Given the description of an element on the screen output the (x, y) to click on. 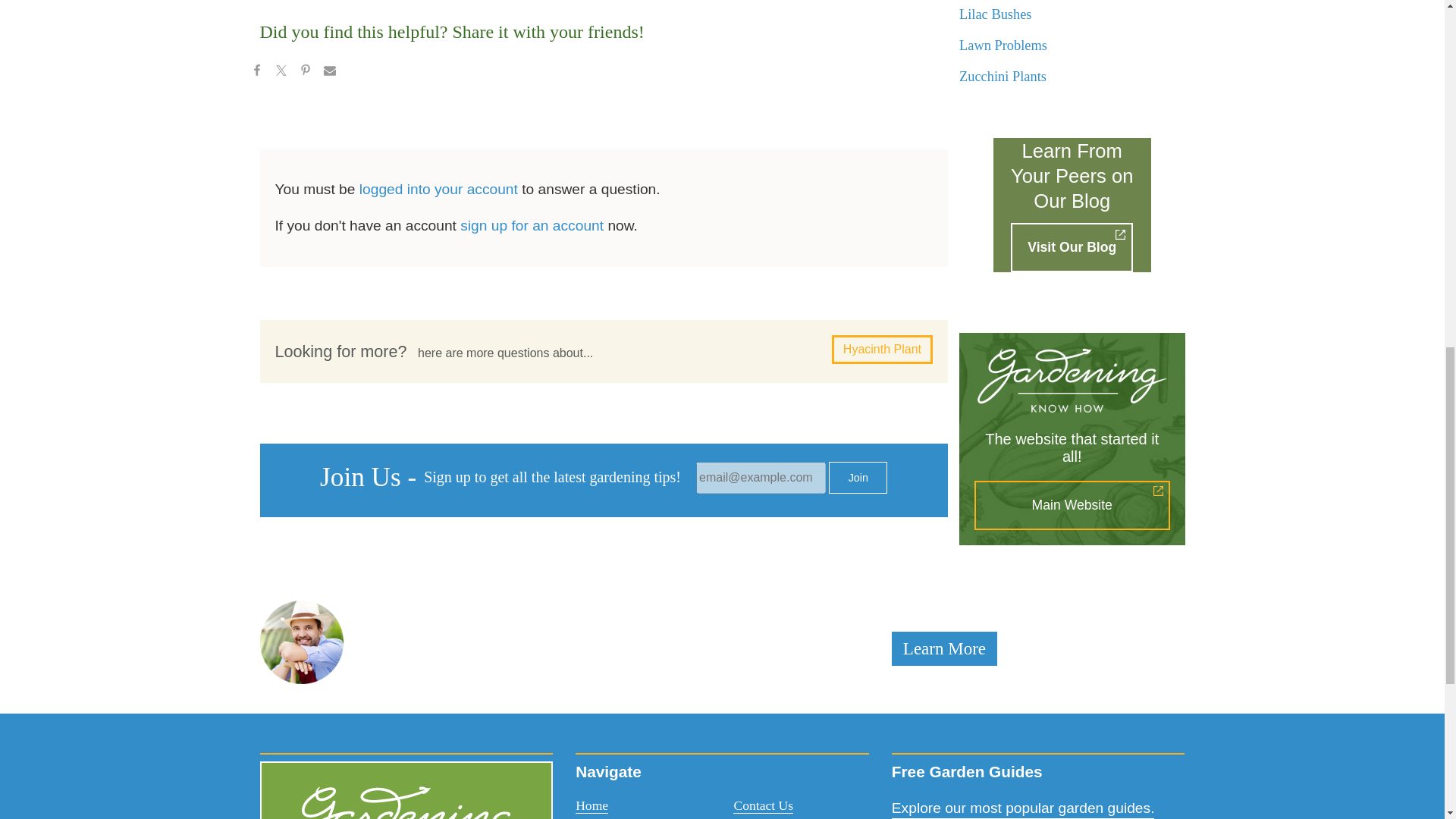
Share via Email (328, 72)
sign up for an account (532, 225)
Hyacinth Plant (882, 348)
Join (857, 477)
Share on Facebook (255, 72)
Share on Twitter (279, 72)
logged into your account (438, 188)
Share on Pinterest (304, 72)
